Given the description of an element on the screen output the (x, y) to click on. 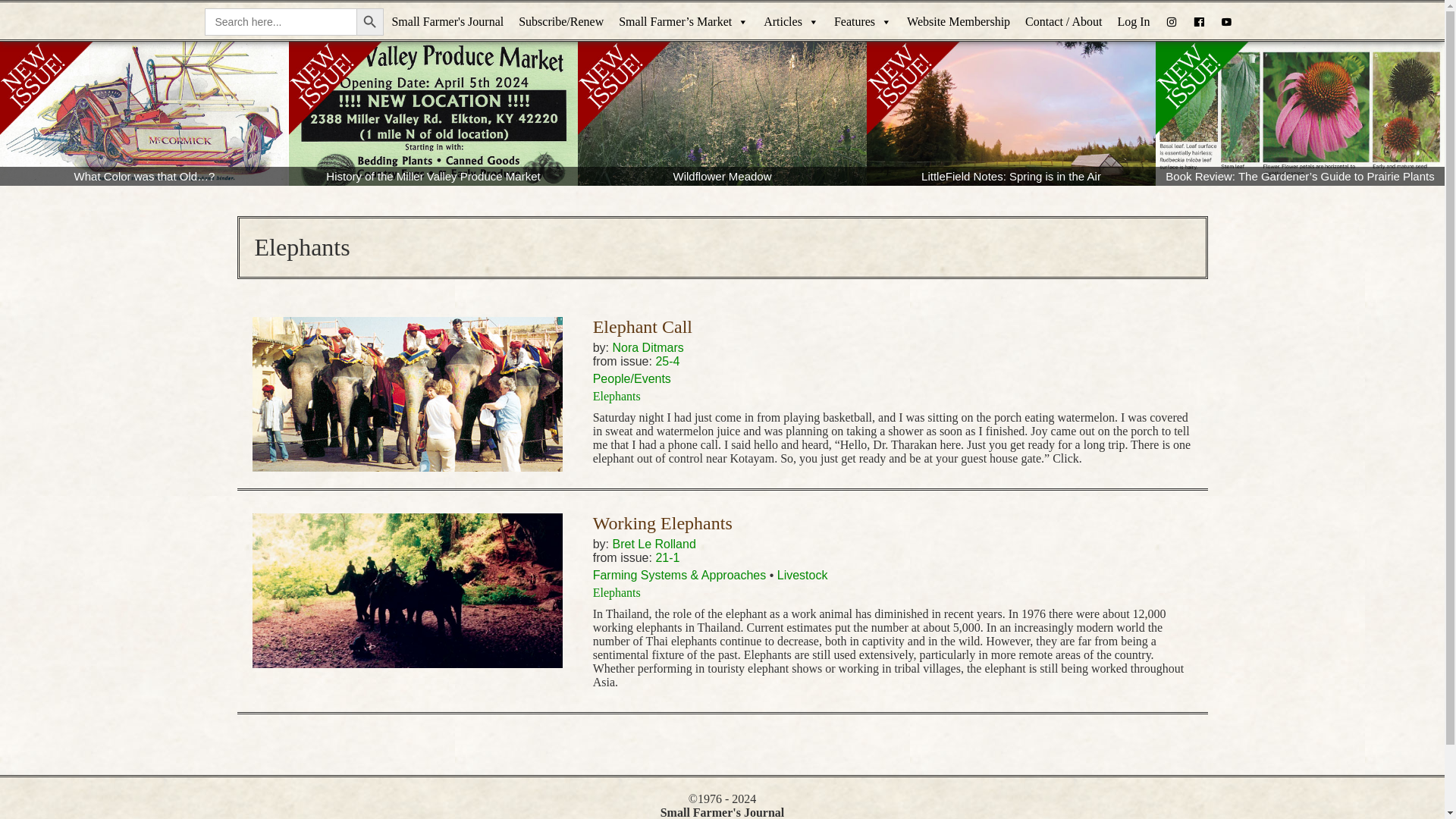
Features (863, 21)
Log In (1133, 21)
Articles (791, 21)
Small Farmer's Journal (447, 21)
Search Button (370, 22)
Website Membership (958, 21)
